Given the description of an element on the screen output the (x, y) to click on. 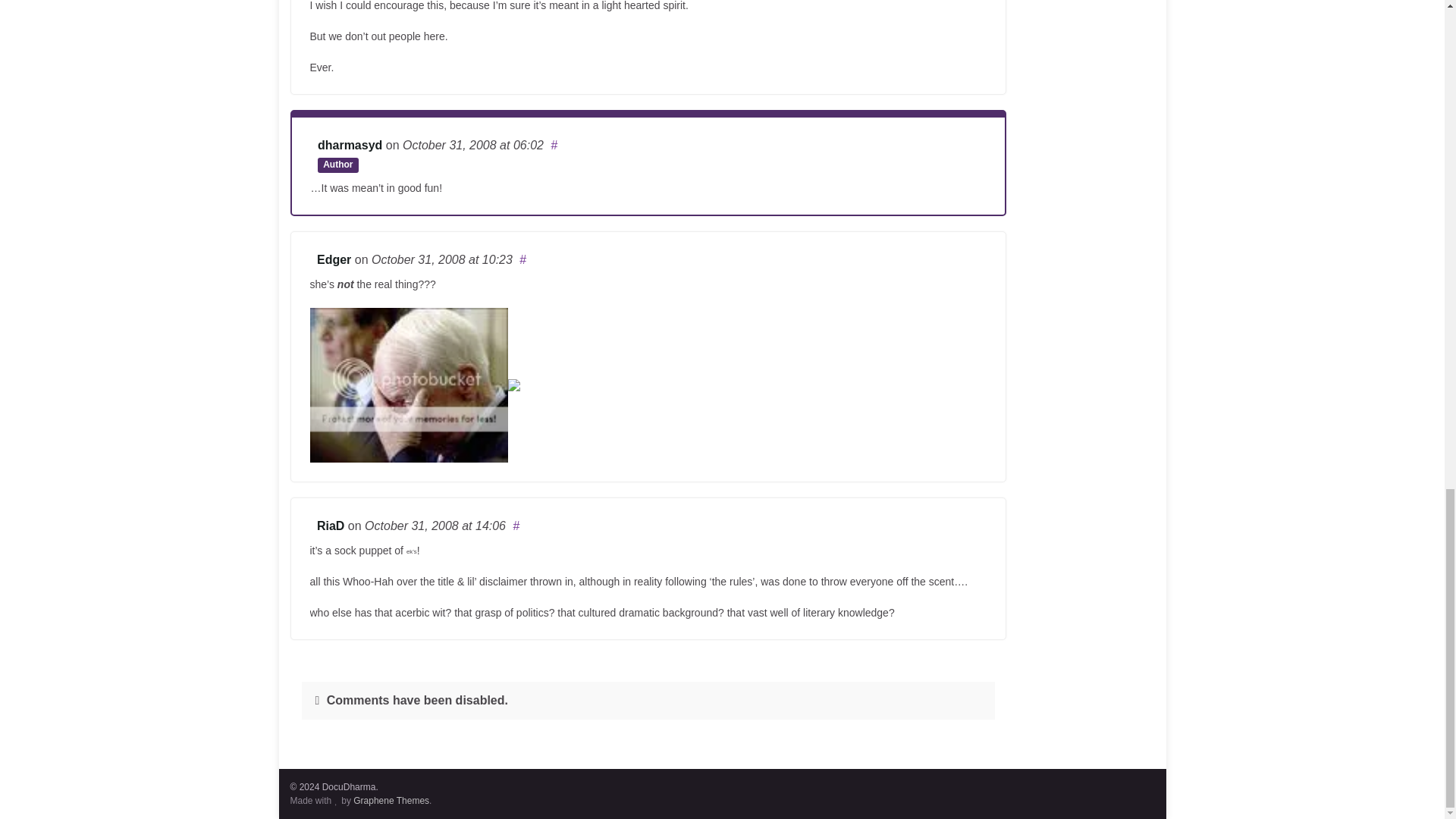
dharmasyd (349, 144)
Graphene Themes (391, 800)
Edger (333, 259)
RiaD (330, 525)
